Given the description of an element on the screen output the (x, y) to click on. 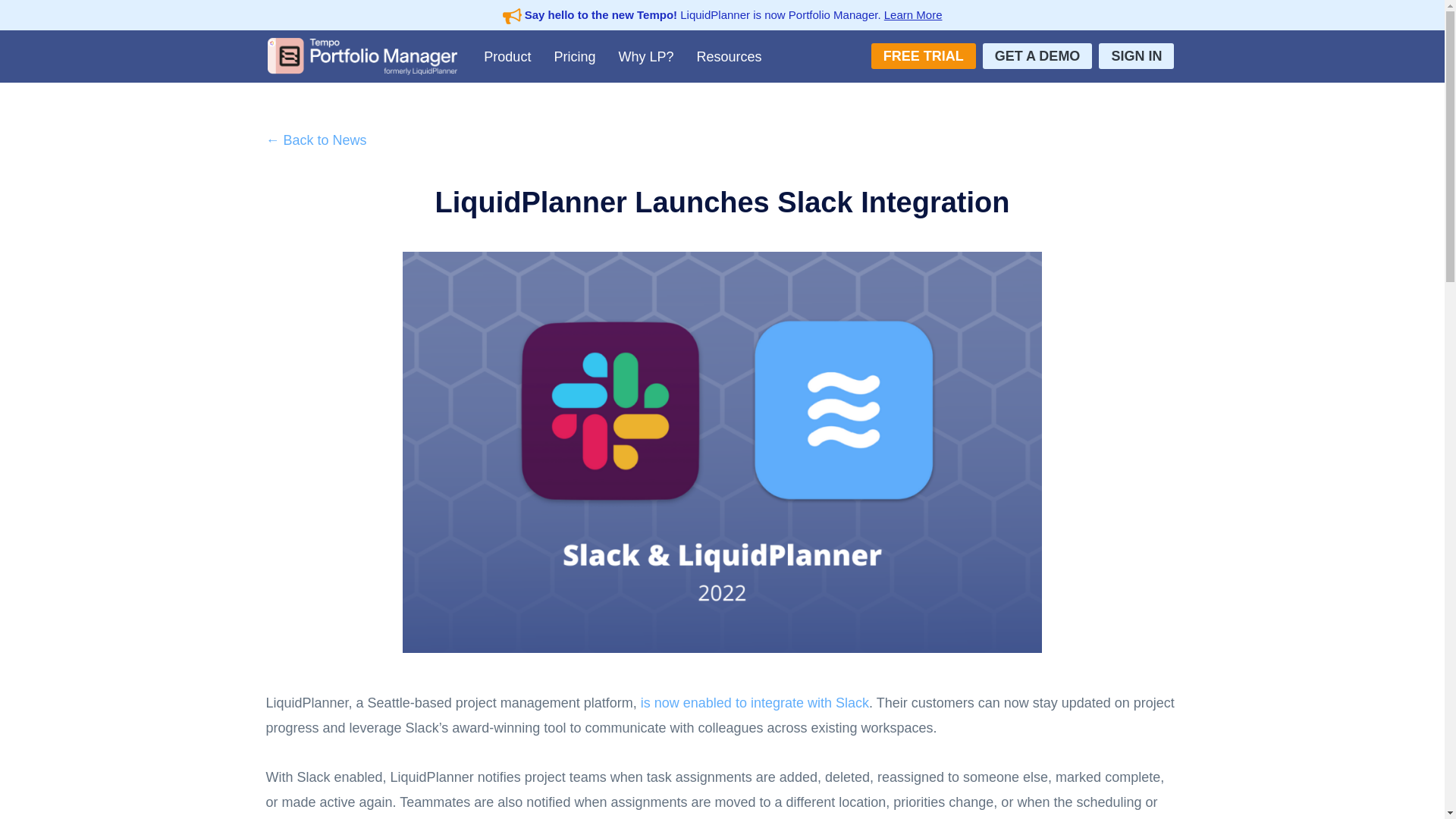
Resources (728, 56)
GET A DEMO (1037, 55)
Product (506, 56)
Why LP? (645, 56)
is now enabled to integrate with Slack (754, 702)
SIGN IN (1136, 55)
Pricing (574, 56)
FREE TRIAL (922, 55)
